Given the description of an element on the screen output the (x, y) to click on. 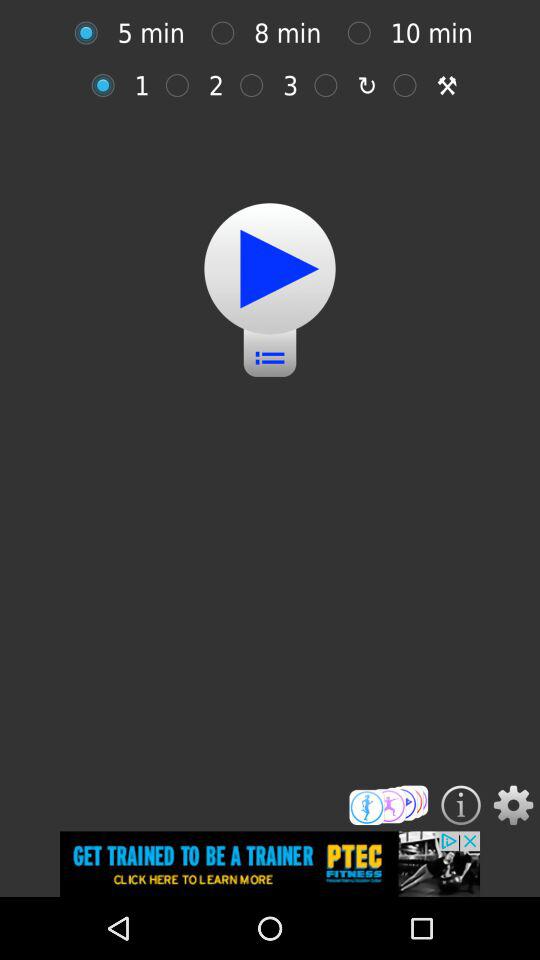
settings button (513, 805)
